Given the description of an element on the screen output the (x, y) to click on. 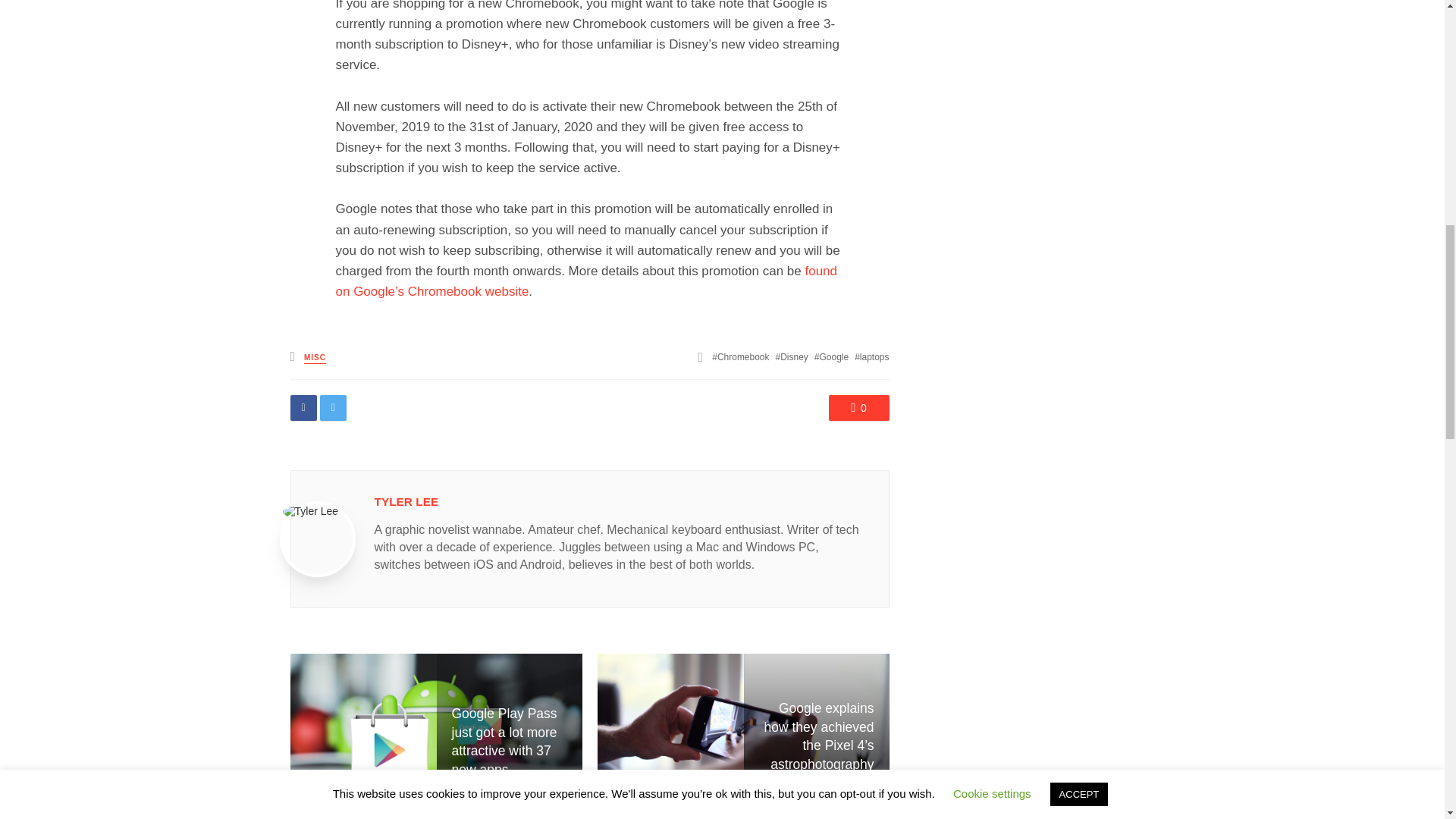
PREVIOUS ARTICLE (434, 805)
0 (858, 407)
Google (830, 357)
Chromebook (739, 357)
TYLER LEE (406, 501)
laptops (871, 357)
Disney (792, 357)
Posts by Tyler Lee (406, 501)
MISC (315, 357)
